Given the description of an element on the screen output the (x, y) to click on. 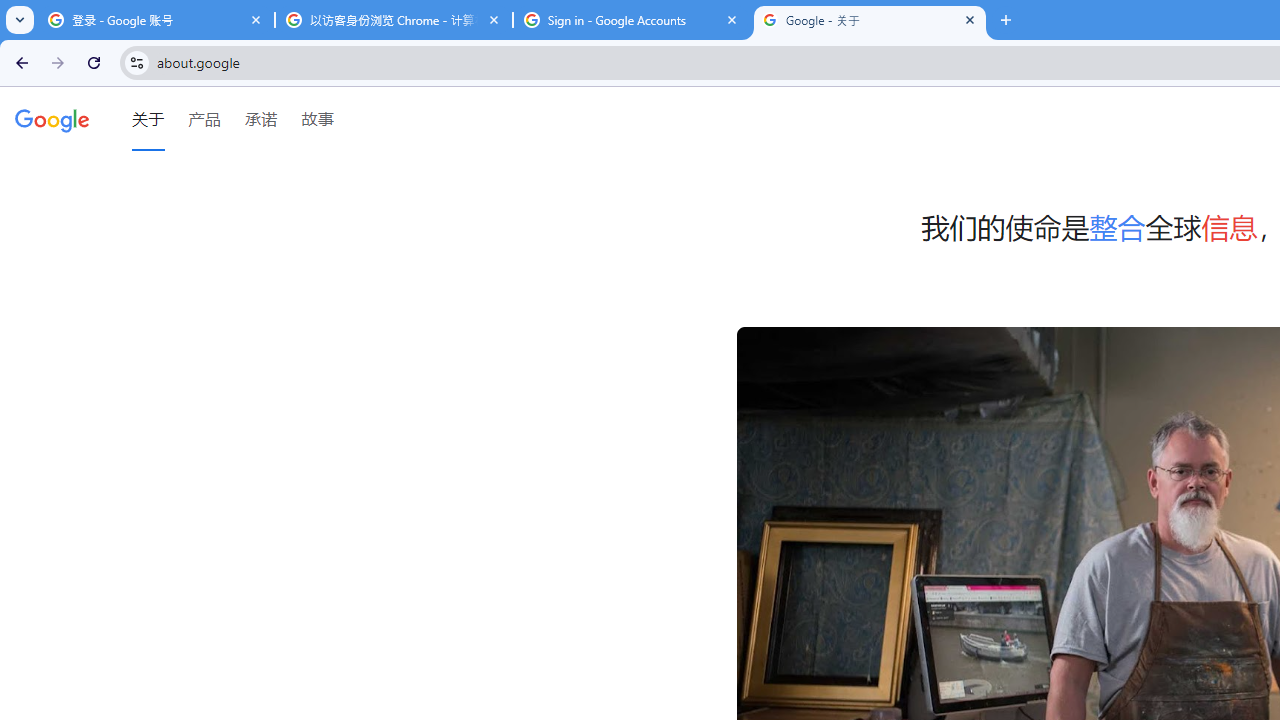
Google (52, 119)
Sign in - Google Accounts (632, 20)
